Given the description of an element on the screen output the (x, y) to click on. 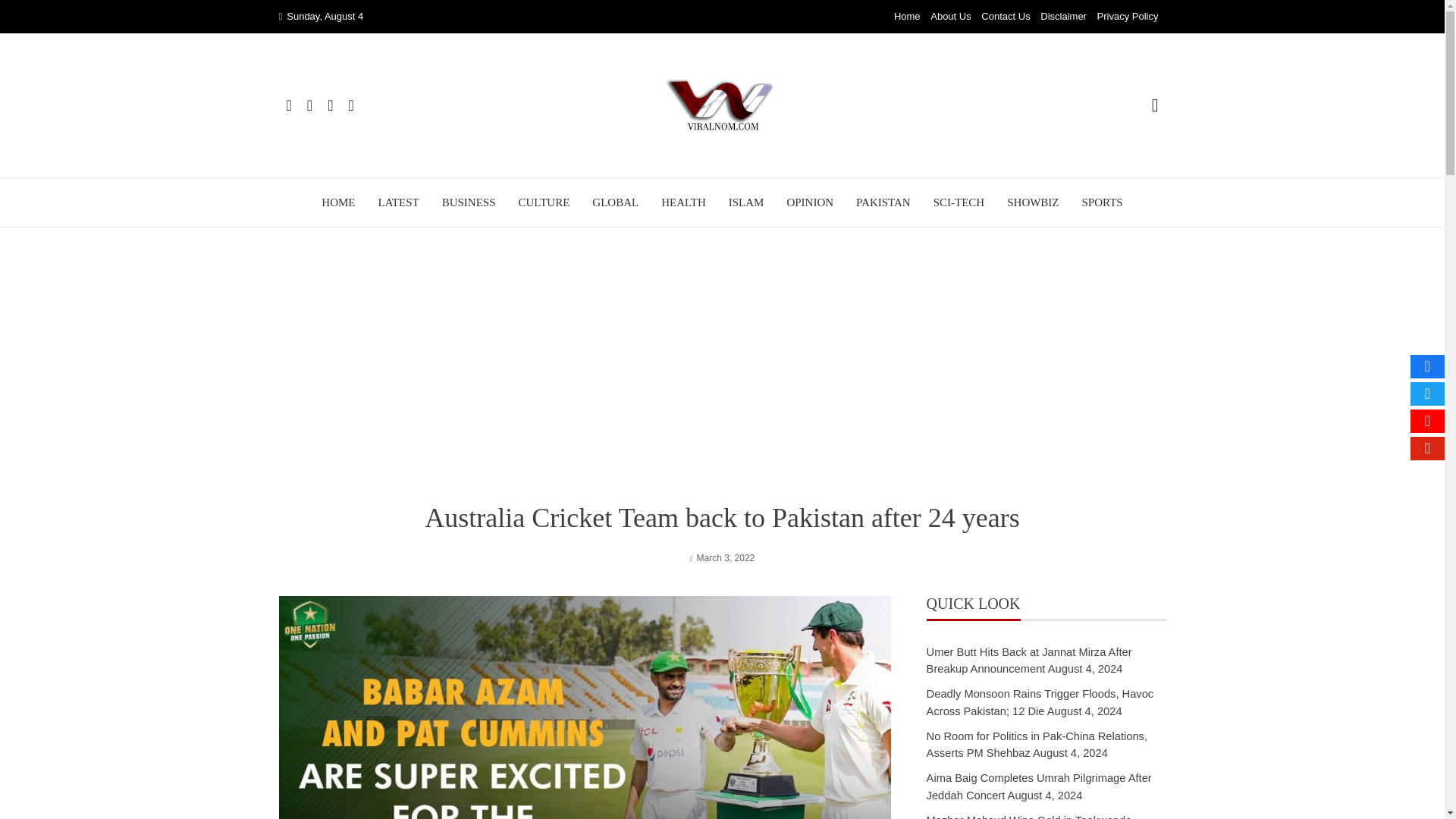
CULTURE (544, 202)
HOME (338, 202)
BUSINESS (469, 202)
LATEST (398, 202)
OPINION (809, 202)
ISLAM (746, 202)
SHOWBIZ (1032, 202)
Home (906, 16)
About Us (950, 16)
SPORTS (1101, 202)
PAKISTAN (883, 202)
HEALTH (683, 202)
SCI-TECH (959, 202)
Disclaimer (1063, 16)
Privacy Policy (1127, 16)
